Given the description of an element on the screen output the (x, y) to click on. 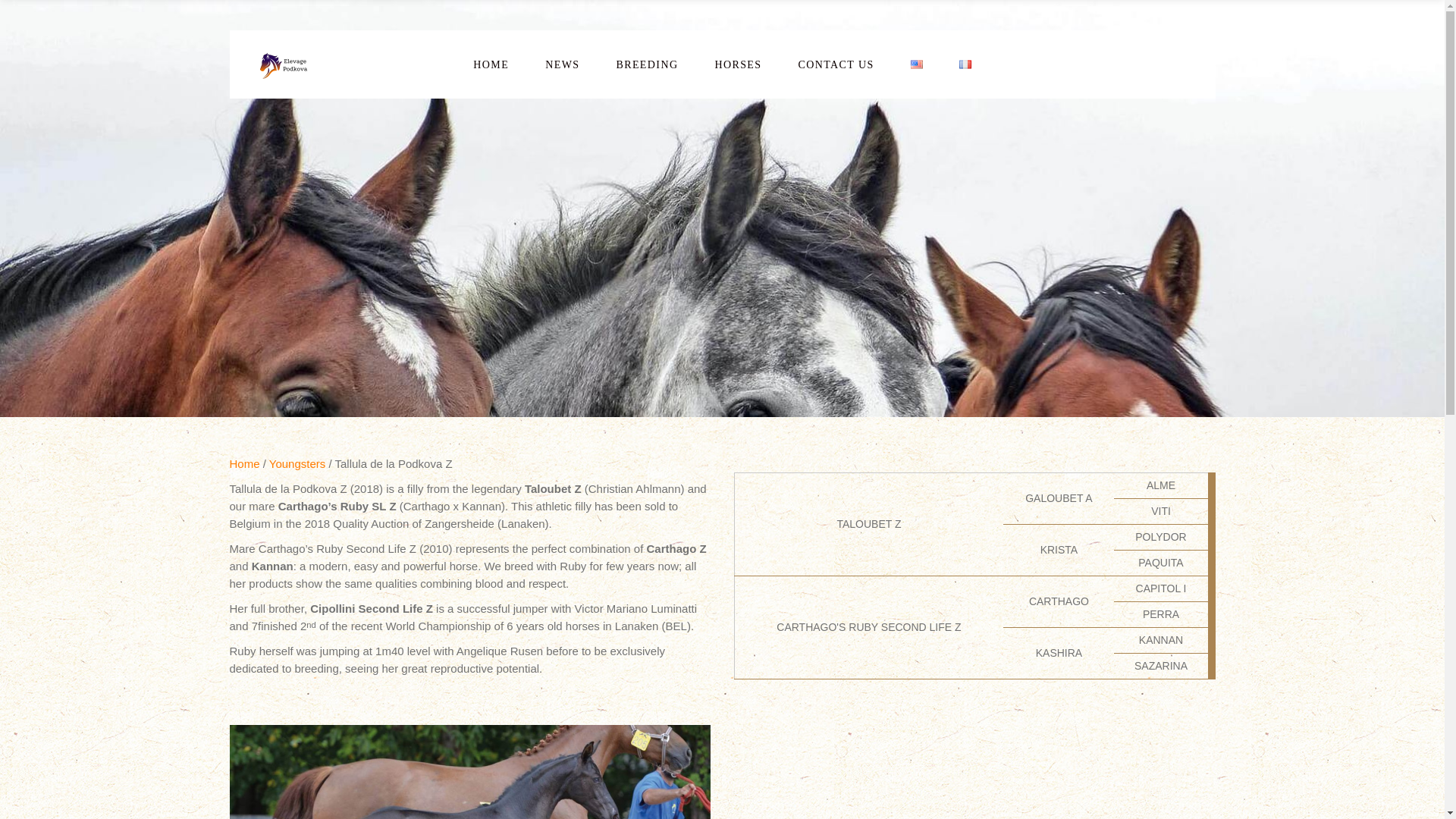
HORSES (736, 64)
NEWS (561, 64)
Tallula de la Podkova Z (974, 771)
HOME (490, 64)
CONTACT US (836, 64)
BREEDING (645, 64)
English (917, 64)
